Given the description of an element on the screen output the (x, y) to click on. 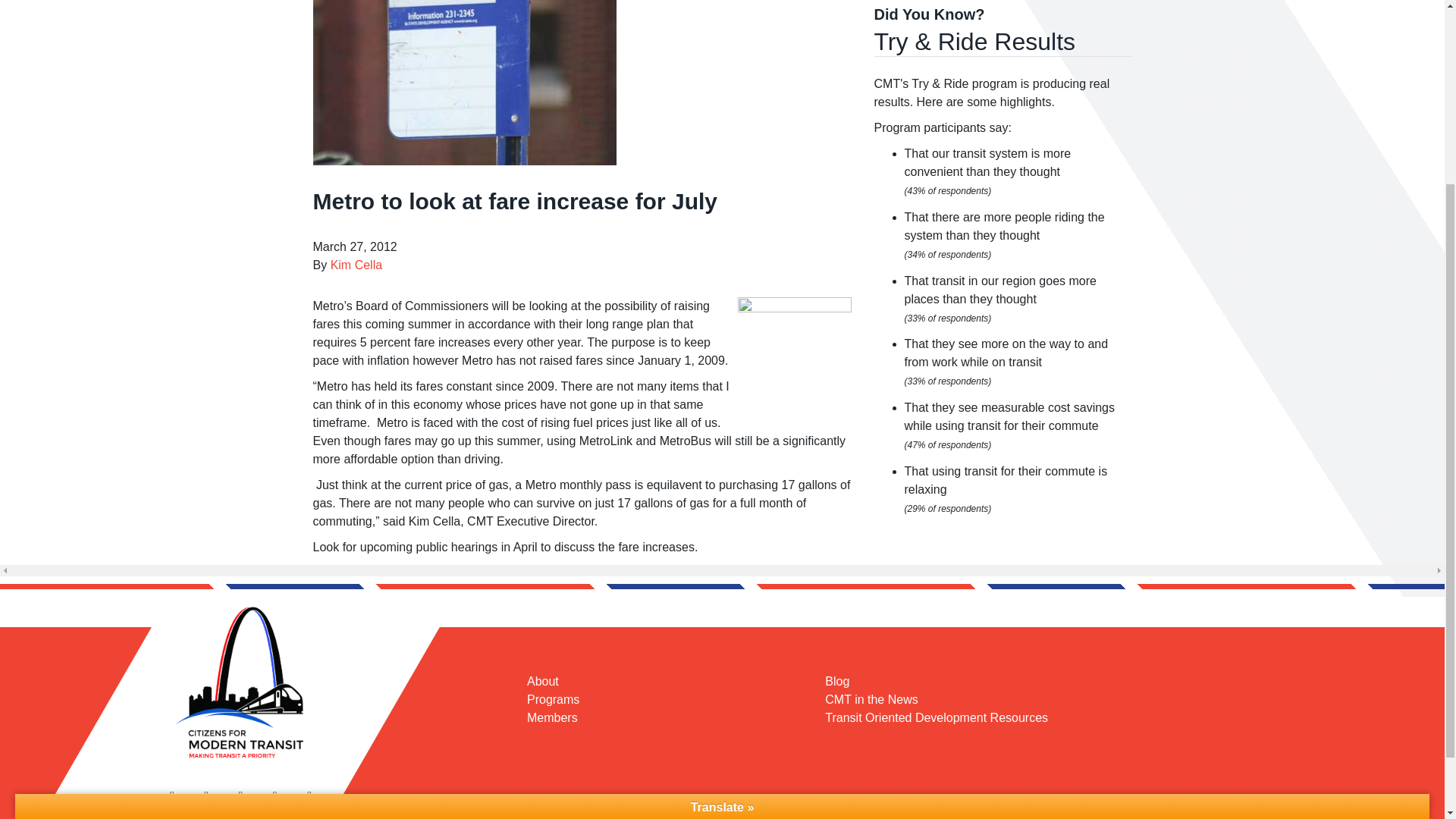
Kim Cella (355, 264)
Bus Stop Stl (793, 354)
Metro to look at fare increase for July (464, 82)
